Given the description of an element on the screen output the (x, y) to click on. 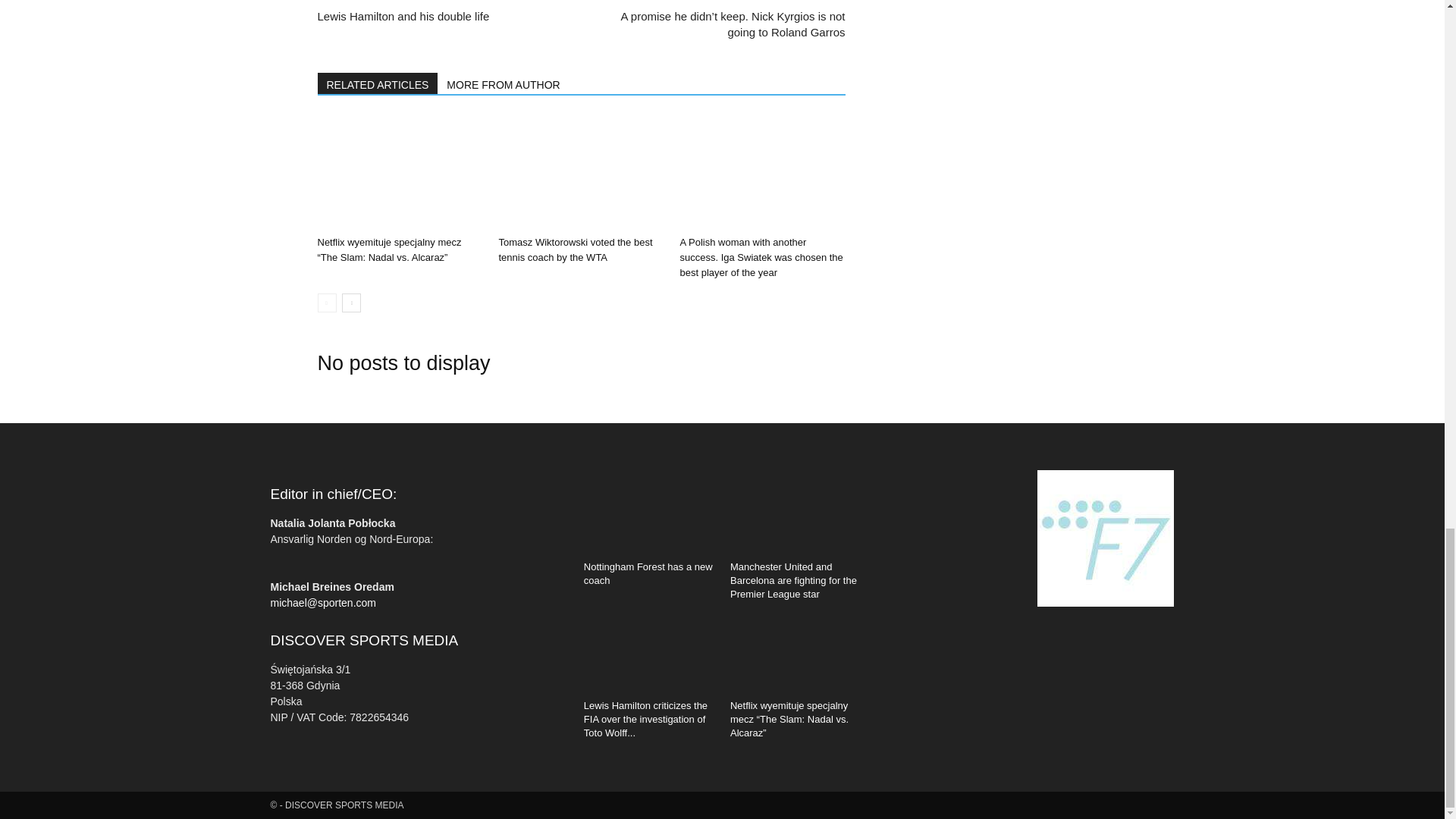
Tomasz Wiktorowski voted the best tennis coach by the WTA (580, 173)
Tomasz Wiktorowski voted the best tennis coach by the WTA (574, 249)
Nottingham Forest has a new coach (648, 509)
